Given the description of an element on the screen output the (x, y) to click on. 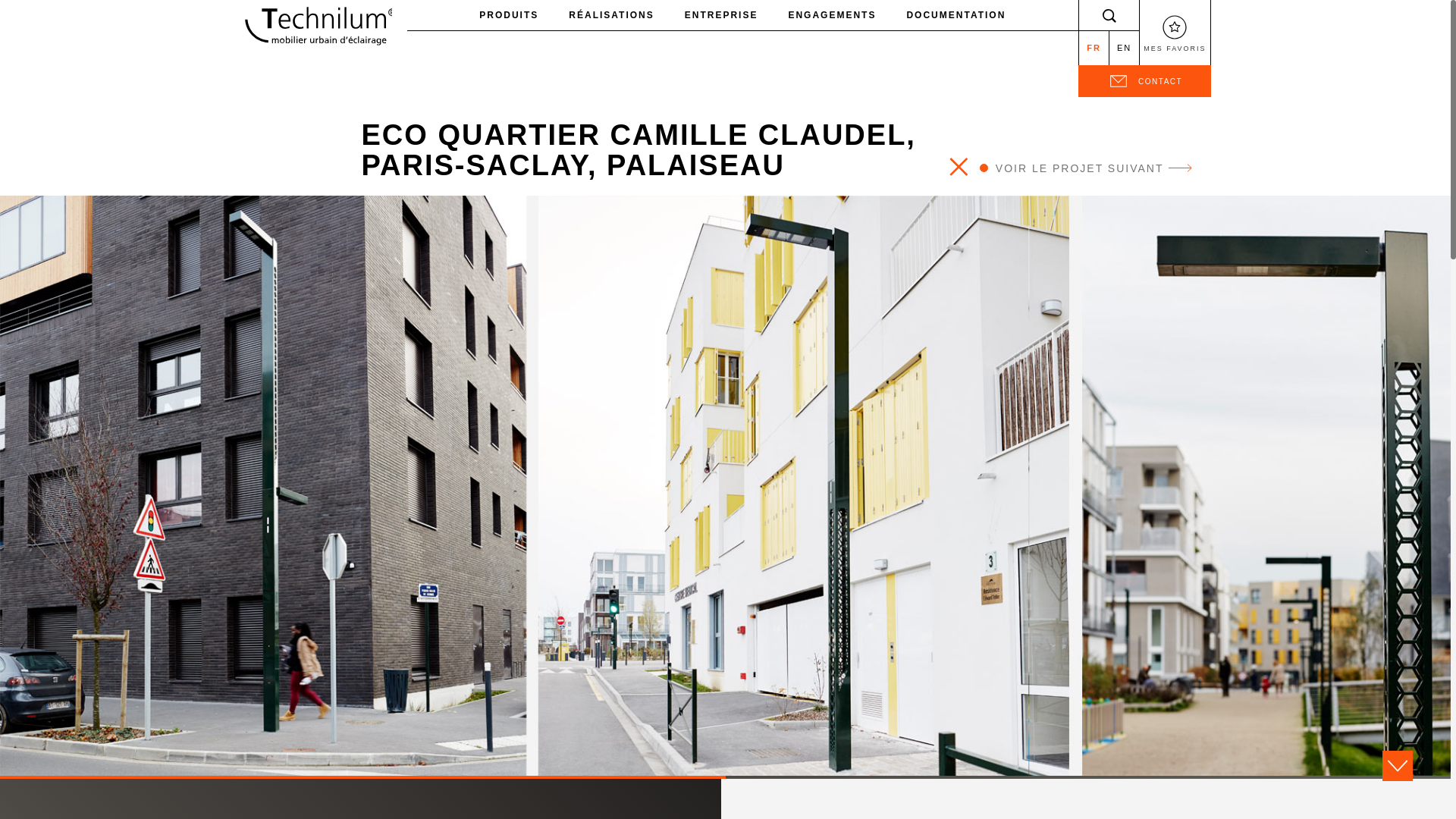
PRODUITS (508, 15)
Skip to content (22, 21)
Technilum (315, 25)
ENTREPRISE (721, 15)
ENGAGEMENTS (832, 15)
DOCUMENTATION (955, 15)
MES FAVORIS (1174, 32)
CONTACT (1143, 81)
Scroll down (1396, 766)
